Given the description of an element on the screen output the (x, y) to click on. 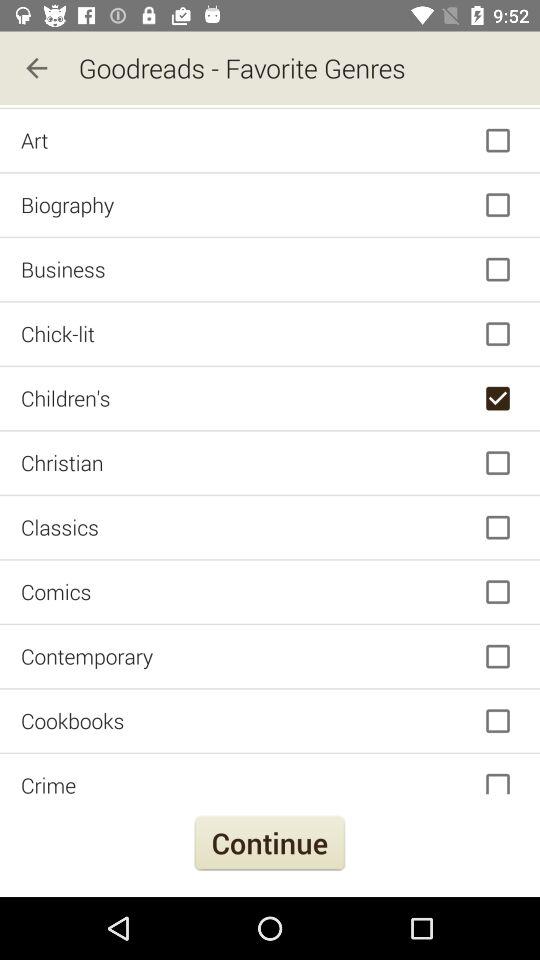
select item below the business icon (270, 333)
